Given the description of an element on the screen output the (x, y) to click on. 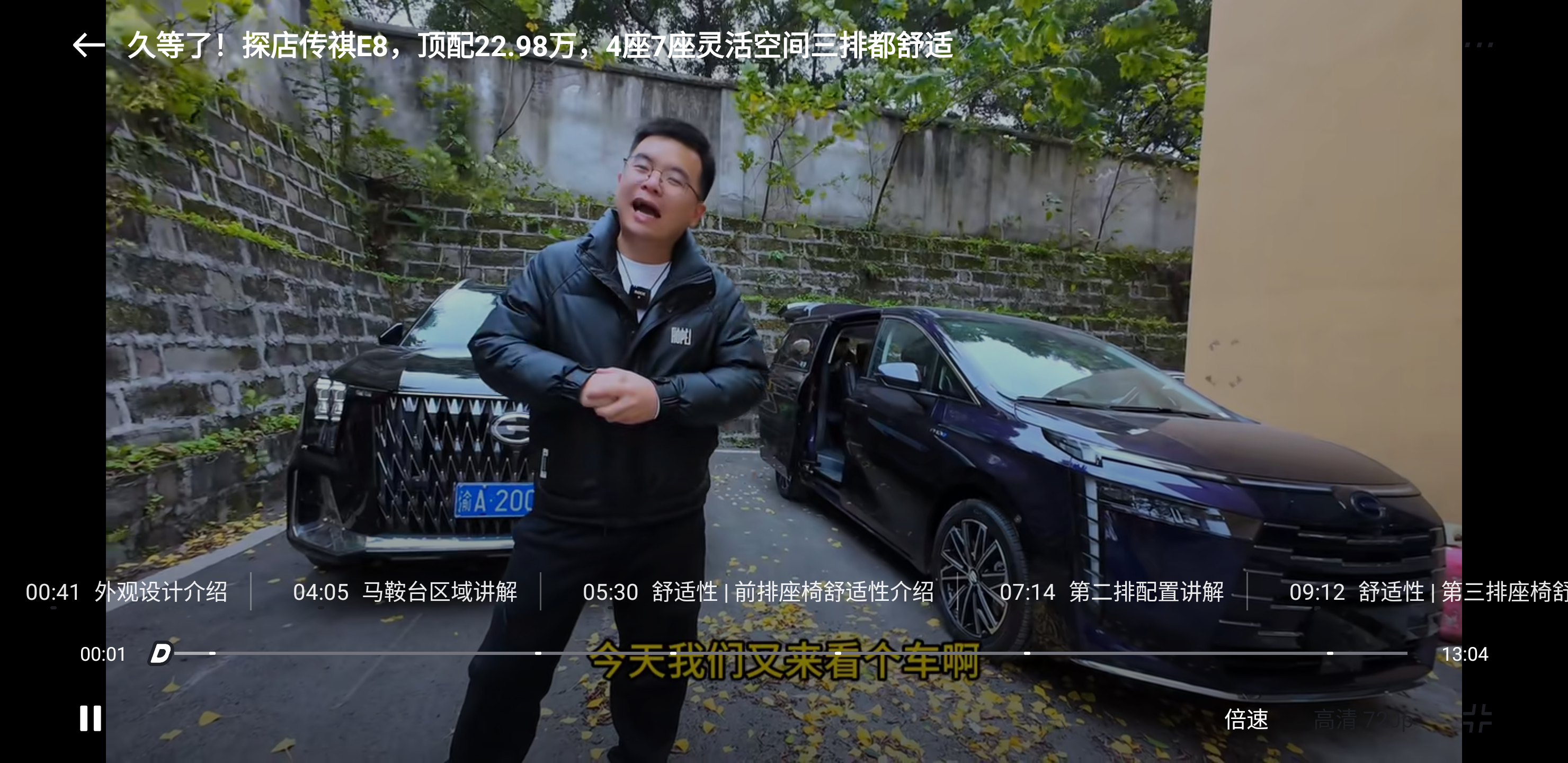
 (89, 44)
 (1478, 44)
00:41 外观设计介绍 (125, 591)
04:05 马鞍台区域讲解 (404, 591)
05:30 舒适性 | 前排座椅舒适性介绍 (757, 591)
07:14 第二排配置讲解 (1110, 591)
09:12 舒适性 | 第三排座椅舒适性介绍 (1415, 591)
 (90, 718)
 (1476, 718)
倍速 (1246, 718)
高清 720p (1363, 718)
